Given the description of an element on the screen output the (x, y) to click on. 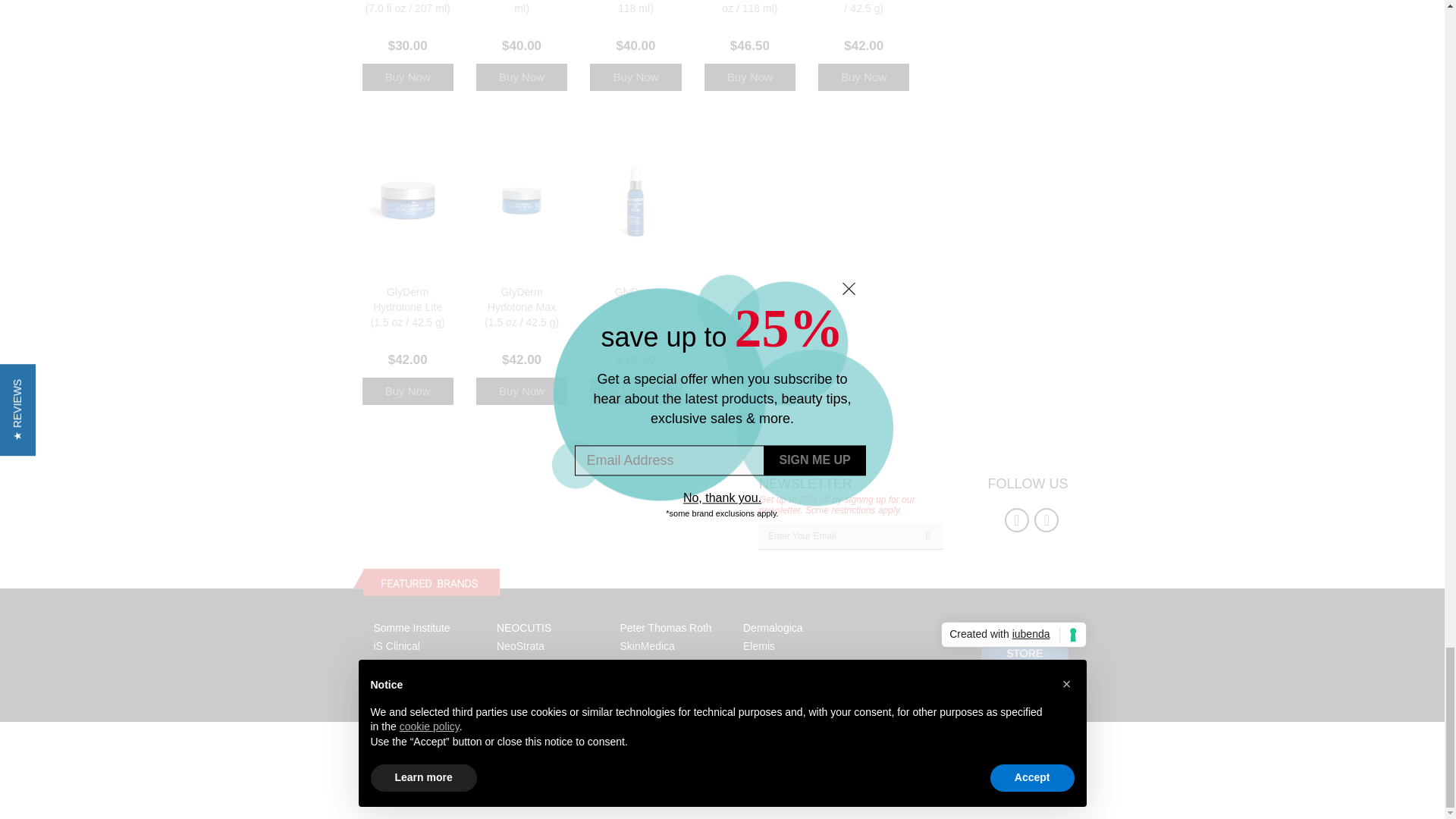
Buy Now (407, 76)
Give Us a Review on Google (1045, 519)
Buy Now (521, 390)
Like Us on Facebook (1016, 519)
Buy Now (635, 390)
Buy Now (407, 390)
Buy Now (749, 76)
Buy Now (863, 76)
Buy Now (635, 76)
Buy Now (521, 76)
